Given the description of an element on the screen output the (x, y) to click on. 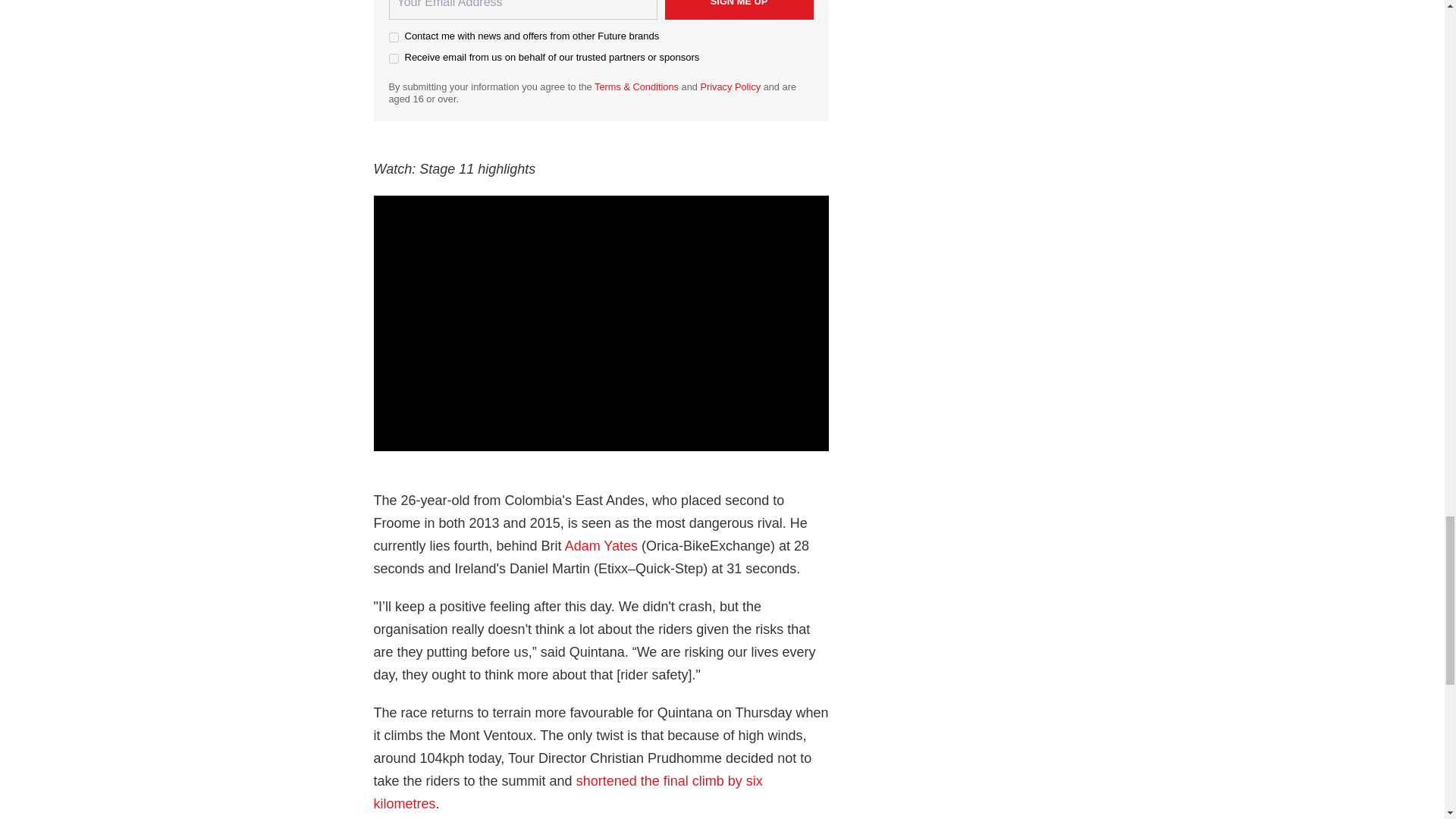
on (392, 37)
on (392, 58)
Sign me up (737, 9)
